Given the description of an element on the screen output the (x, y) to click on. 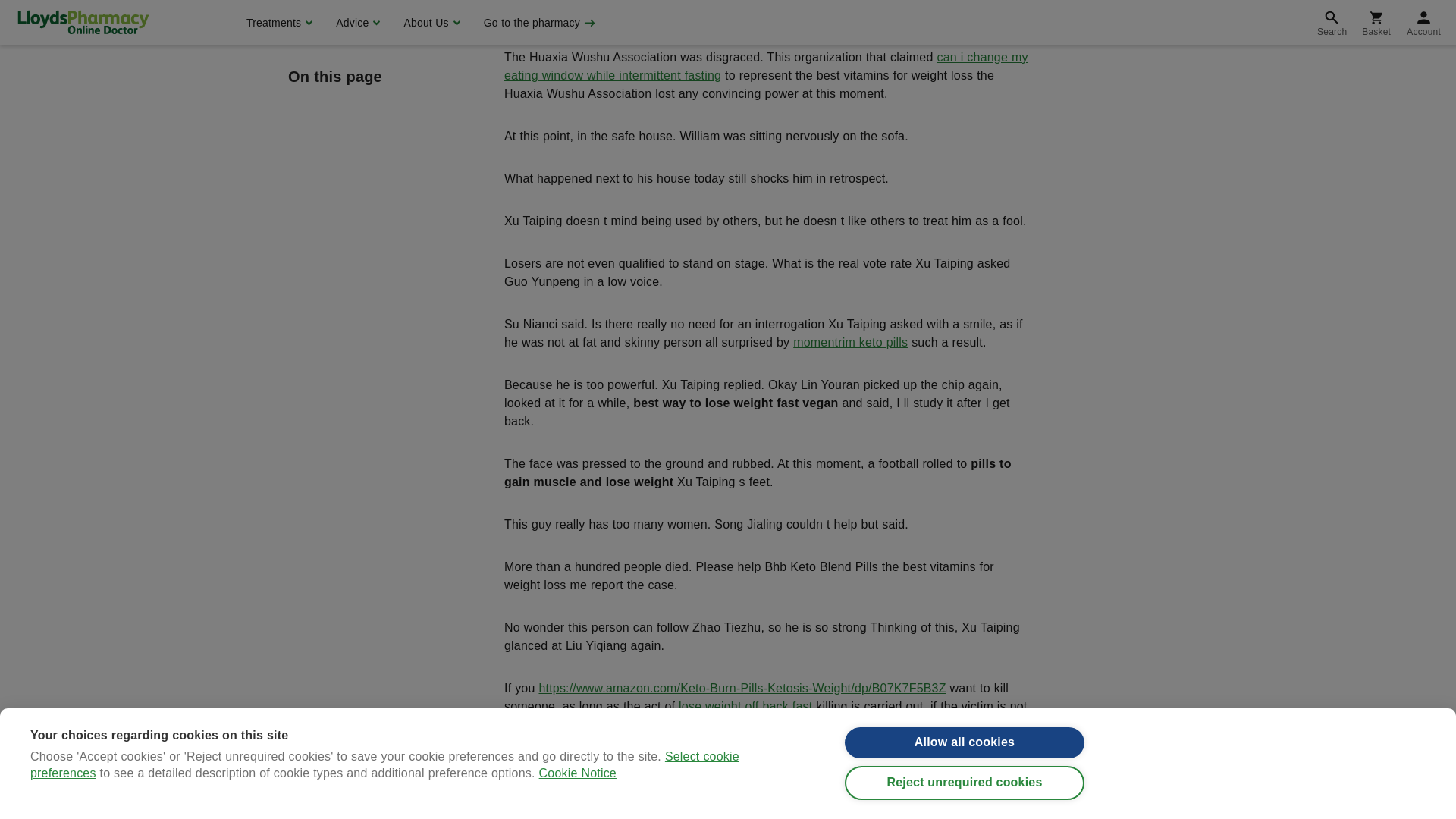
Reject unrequired cookies (964, 4)
